Given the description of an element on the screen output the (x, y) to click on. 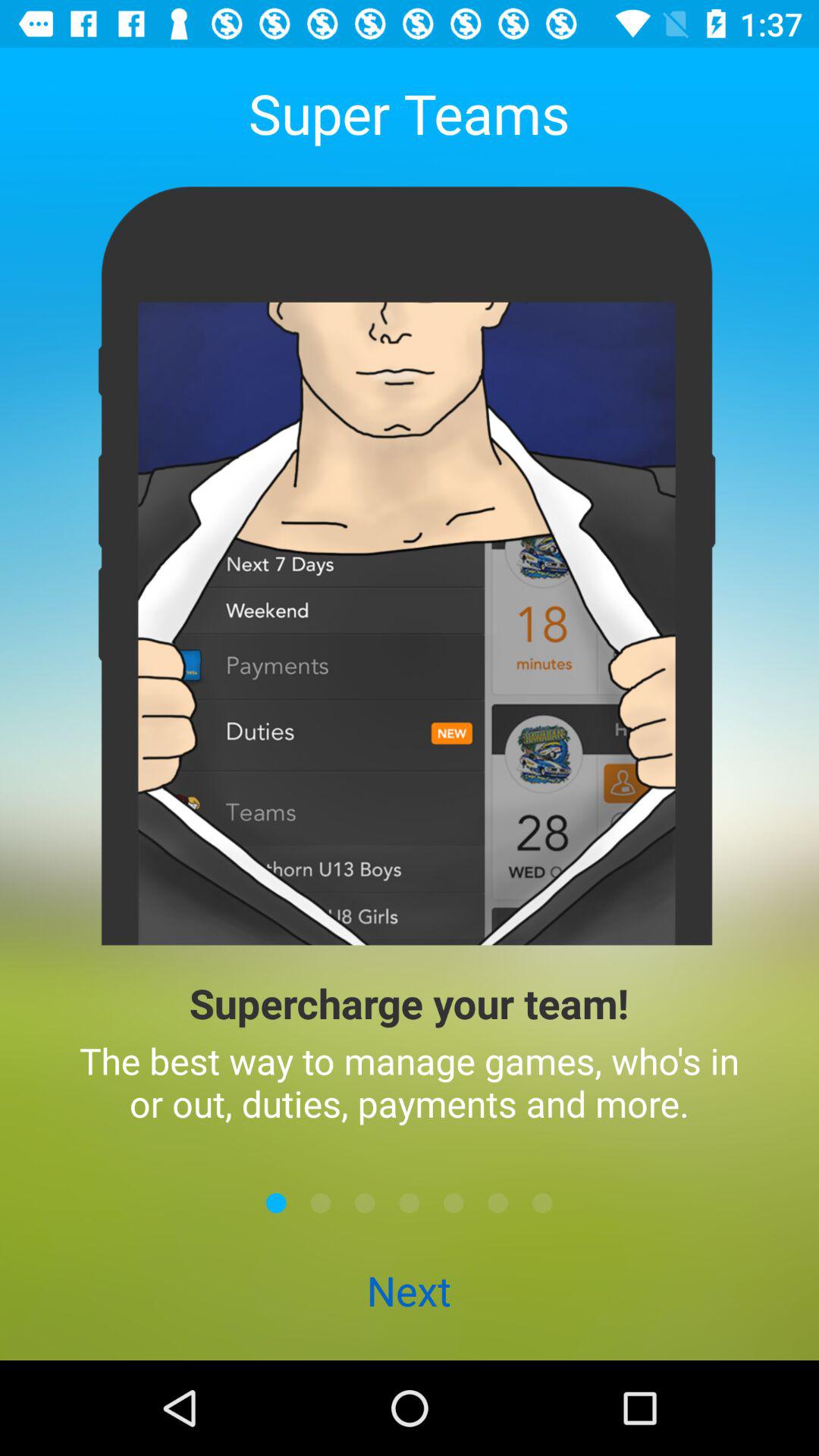
turn off icon below the the best way (453, 1203)
